Given the description of an element on the screen output the (x, y) to click on. 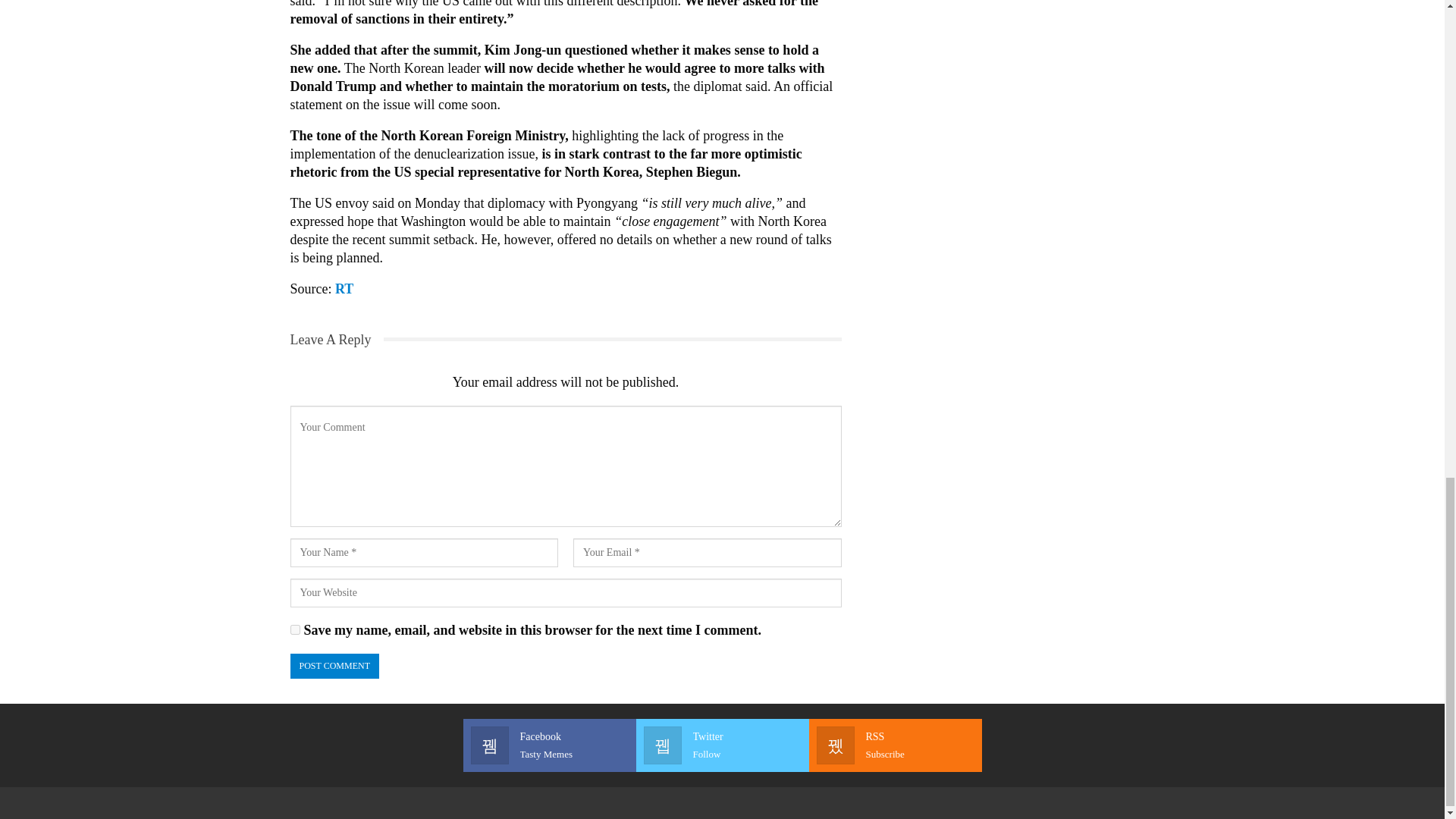
yes (294, 629)
Post Comment (333, 665)
Post Comment (548, 745)
RT (894, 745)
